Given the description of an element on the screen output the (x, y) to click on. 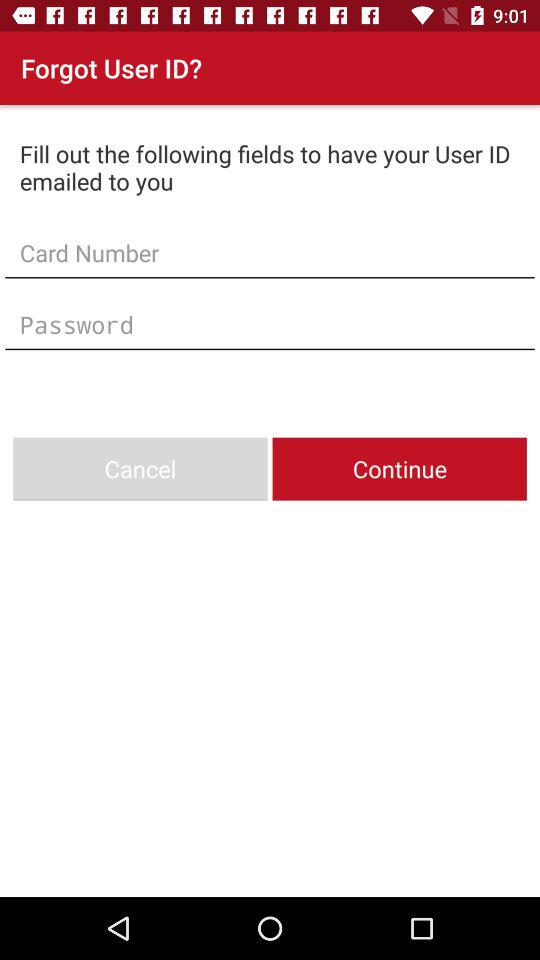
press the icon to the right of cancel icon (399, 468)
